Given the description of an element on the screen output the (x, y) to click on. 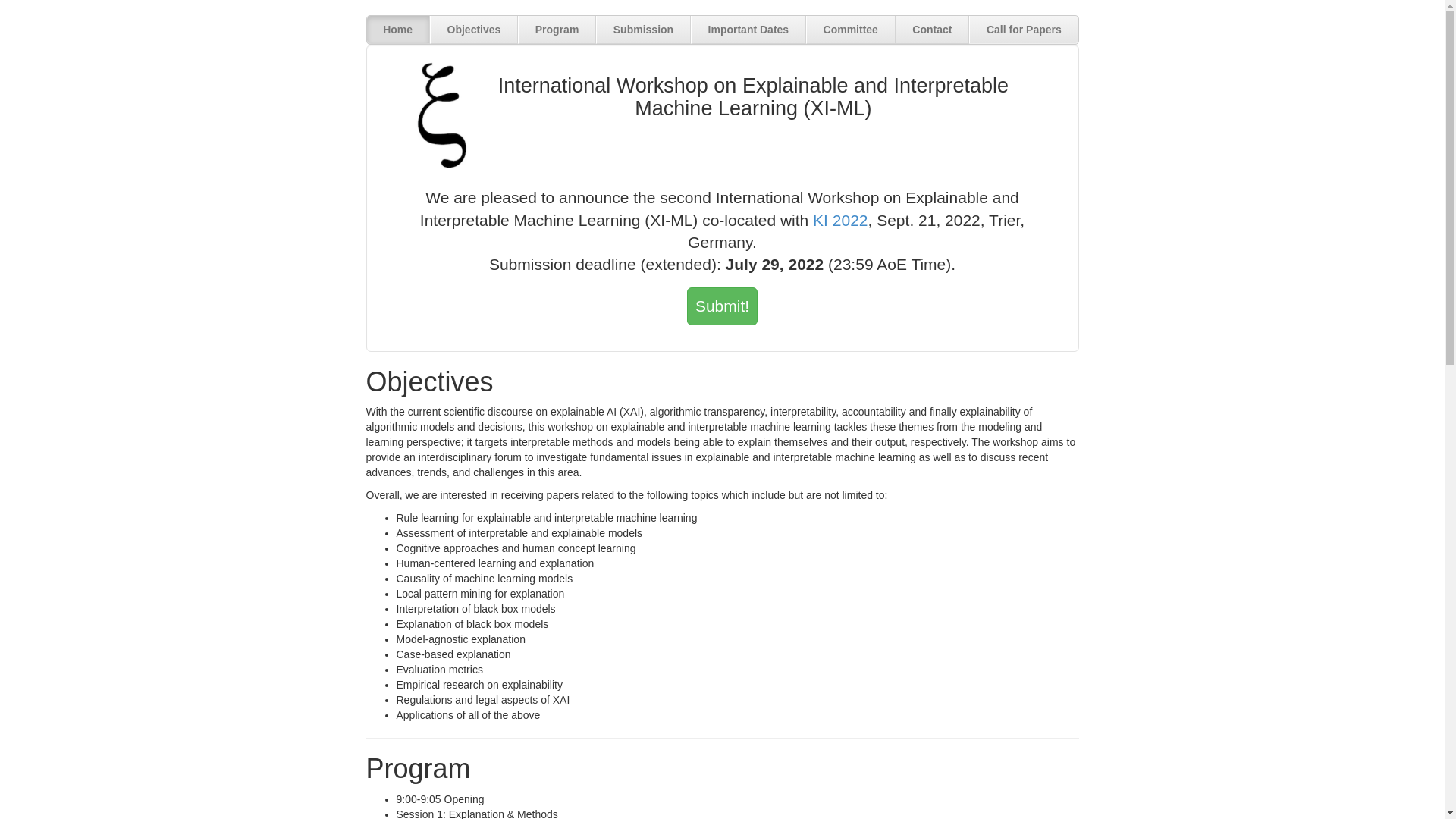
Program Element type: text (556, 29)
Submit! Element type: text (722, 306)
Submission Element type: text (643, 29)
Important Dates Element type: text (748, 29)
Committee Element type: text (850, 29)
Home Element type: text (398, 29)
Contact Element type: text (932, 29)
Objectives Element type: text (473, 29)
Call for Papers Element type: text (1023, 29)
KI 2022 Element type: text (839, 220)
